Given the description of an element on the screen output the (x, y) to click on. 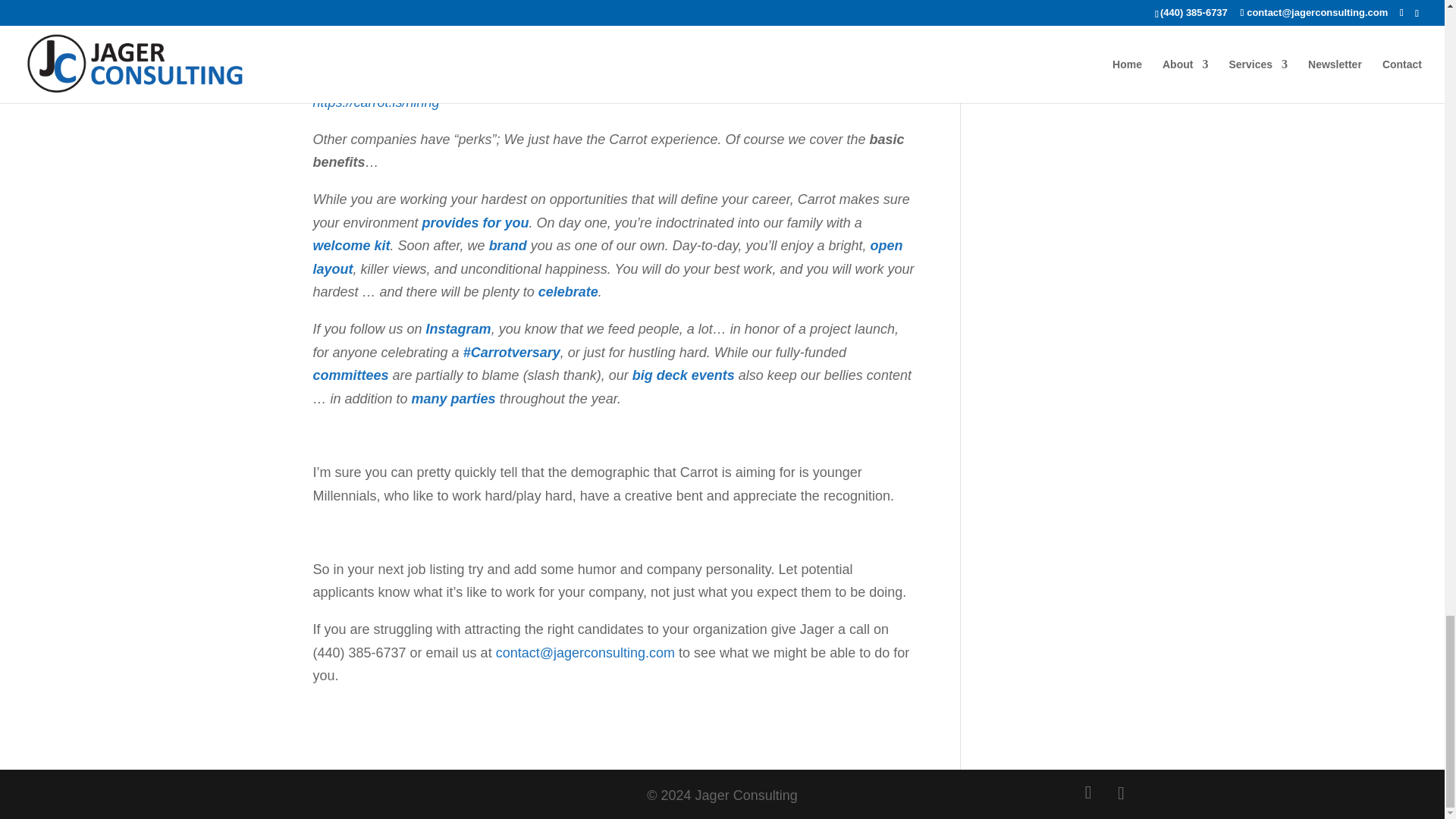
brand (508, 245)
provides for you (475, 222)
open layout (607, 257)
welcome kit (351, 245)
Instagram (459, 328)
celebrate (568, 291)
